Given the description of an element on the screen output the (x, y) to click on. 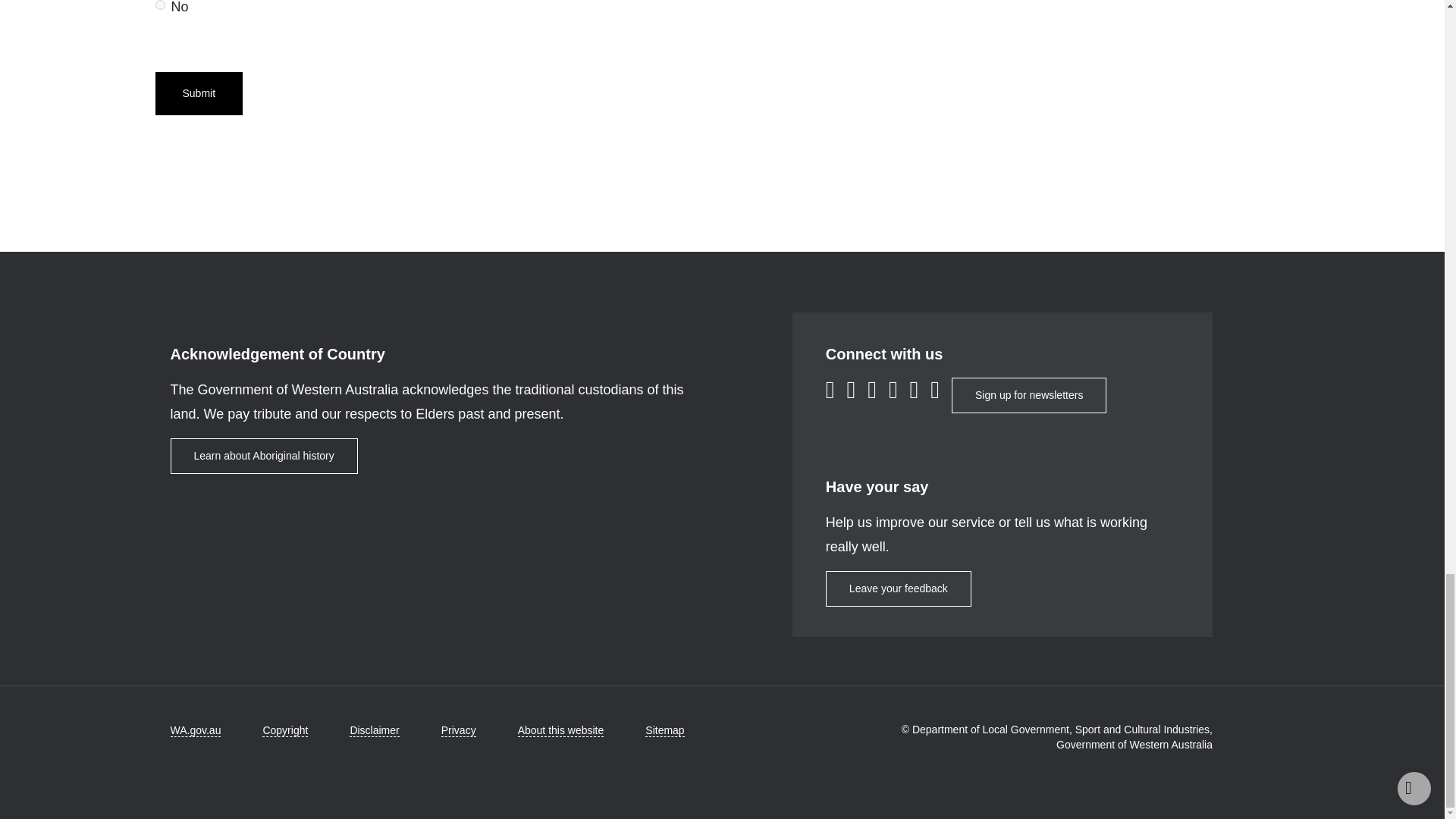
No (159, 4)
